Given the description of an element on the screen output the (x, y) to click on. 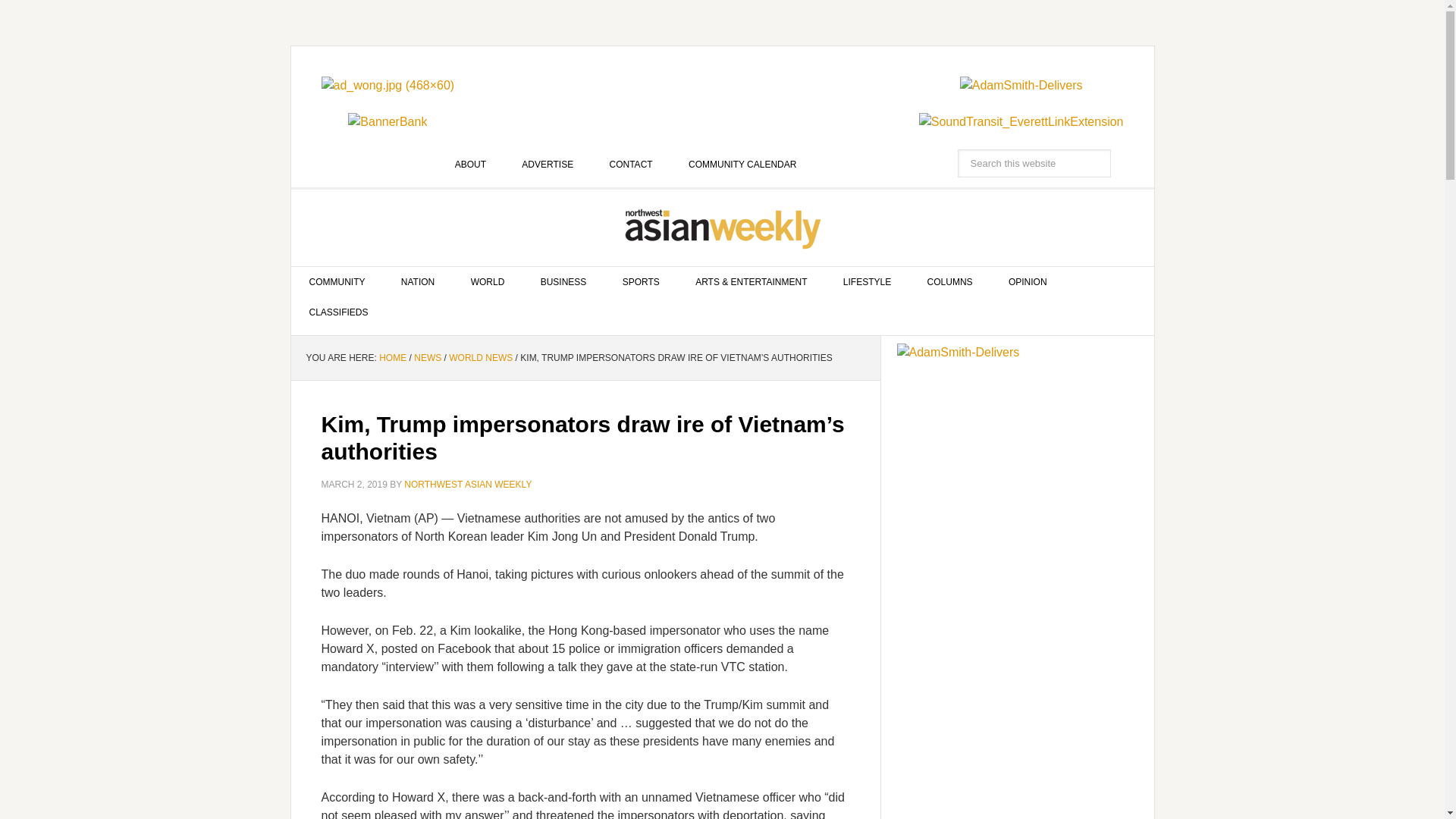
ABOUT (469, 164)
LIFESTYLE (866, 281)
COMMUNITY (337, 281)
WORLD (487, 281)
OPINION (1027, 281)
CLASSIFIEDS (339, 312)
NEWS (427, 357)
NATION (417, 281)
COMMUNITY CALENDAR (741, 164)
BUSINESS (563, 281)
HOME (392, 357)
SPORTS (641, 281)
COLUMNS (949, 281)
CONTACT (631, 164)
